Given the description of an element on the screen output the (x, y) to click on. 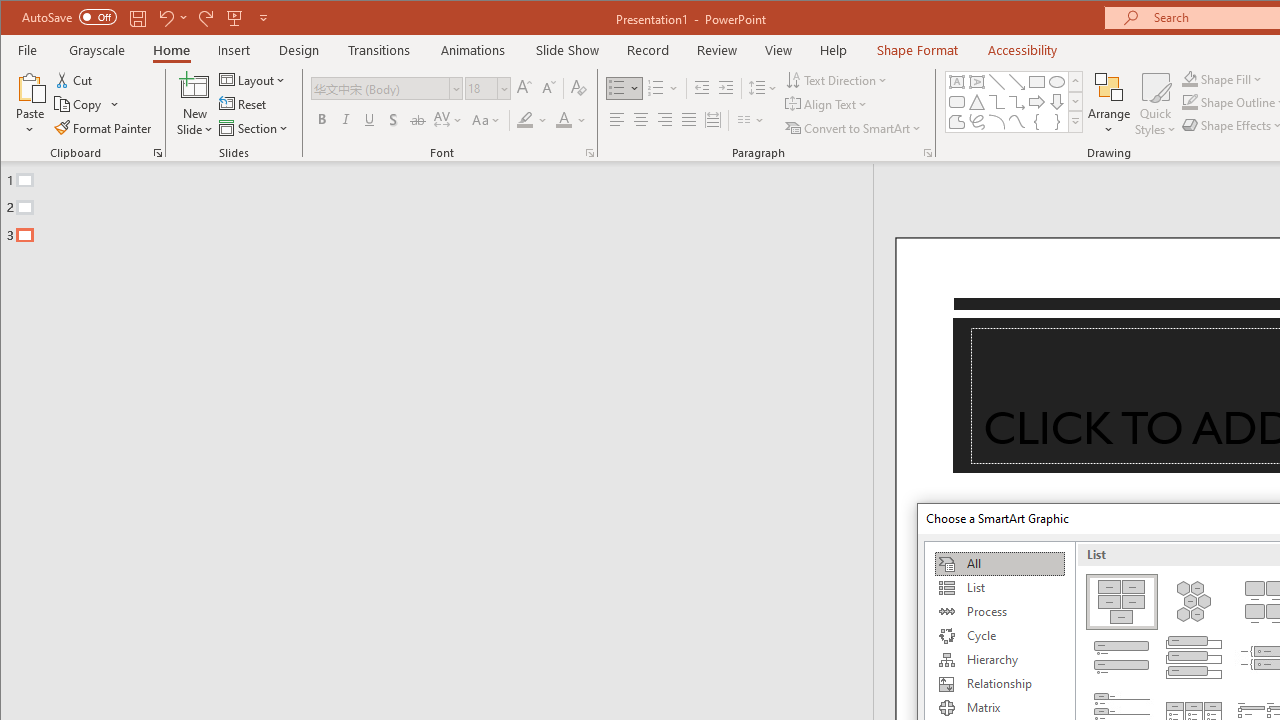
Convert to SmartArt (855, 127)
Left Brace (1036, 121)
Rectangle (1036, 82)
Align Text (828, 103)
Justify (689, 119)
Italic (346, 119)
Right Brace (1057, 121)
Connector: Elbow Arrow (1016, 102)
Text Highlight Color Yellow (525, 119)
Line Spacing (764, 88)
Columns (751, 119)
Font Size (480, 88)
